Given the description of an element on the screen output the (x, y) to click on. 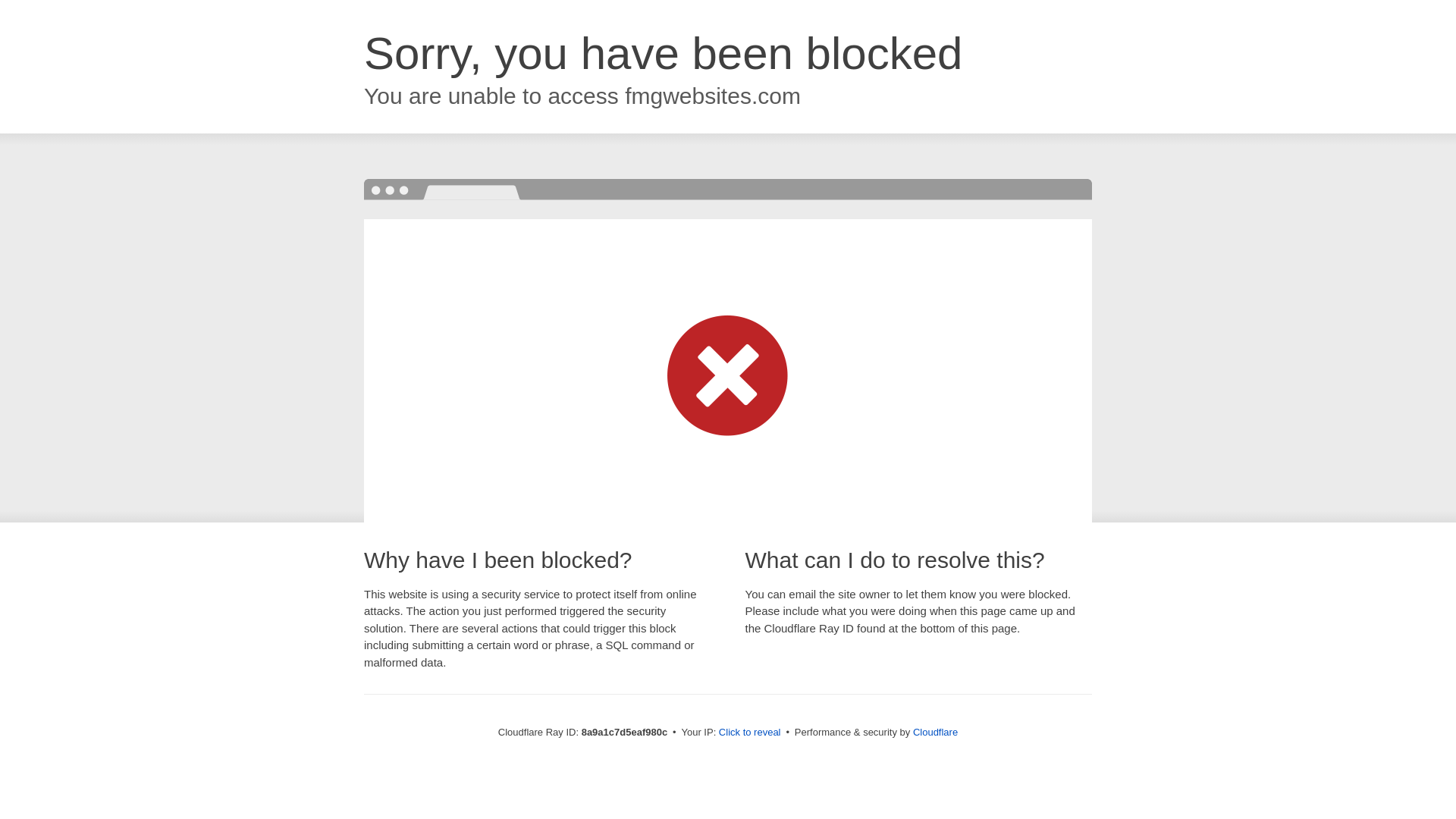
Click to reveal (749, 732)
Cloudflare (935, 731)
